Given the description of an element on the screen output the (x, y) to click on. 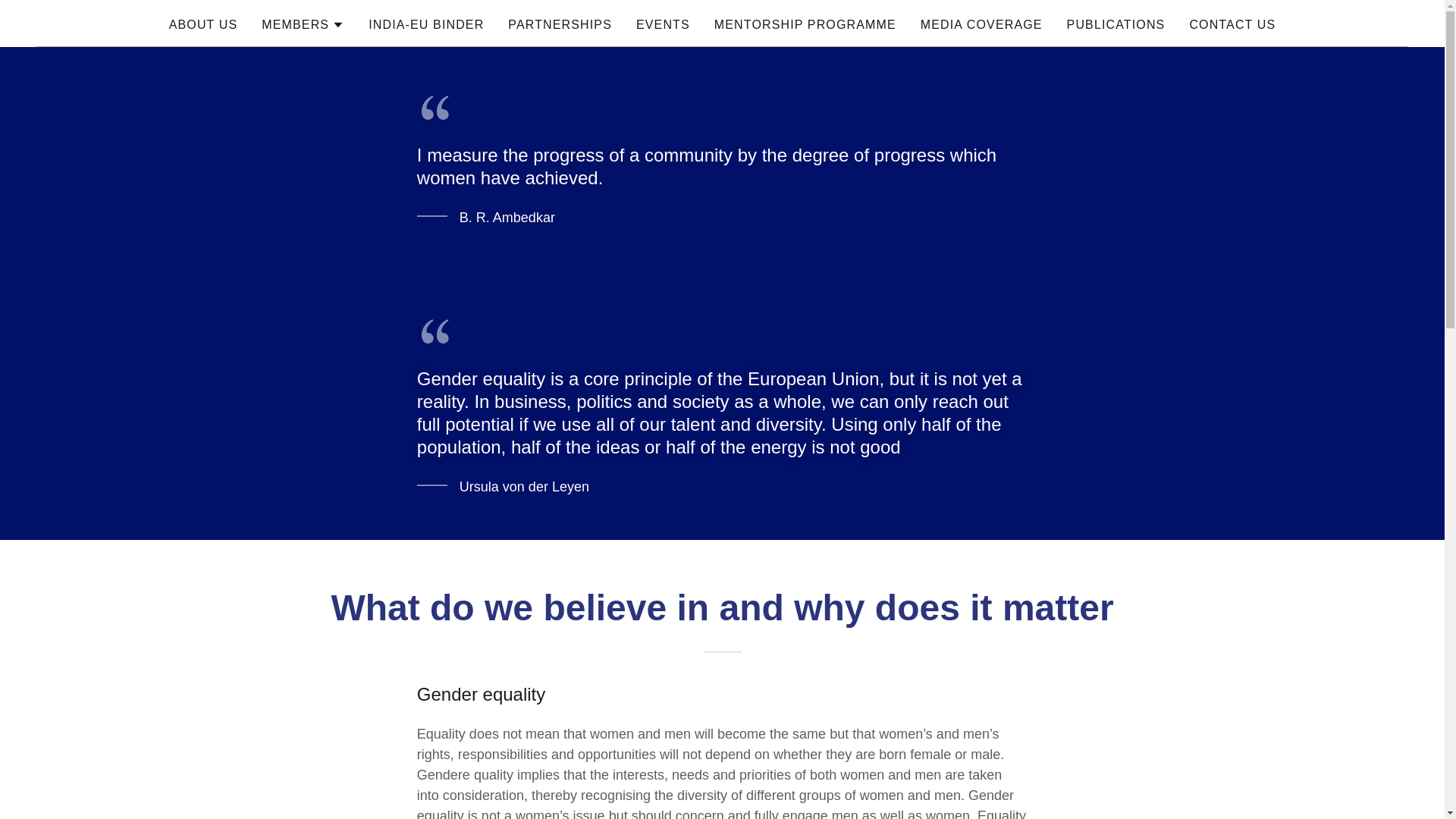
MENTORSHIP PROGRAMME (805, 24)
CONTACT US (1232, 24)
PARTNERSHIPS (559, 24)
MEDIA COVERAGE (980, 24)
PUBLICATIONS (1116, 24)
ABOUT US (203, 24)
MEMBERS (302, 24)
EVENTS (662, 24)
INDIA-EU BINDER (425, 24)
